Given the description of an element on the screen output the (x, y) to click on. 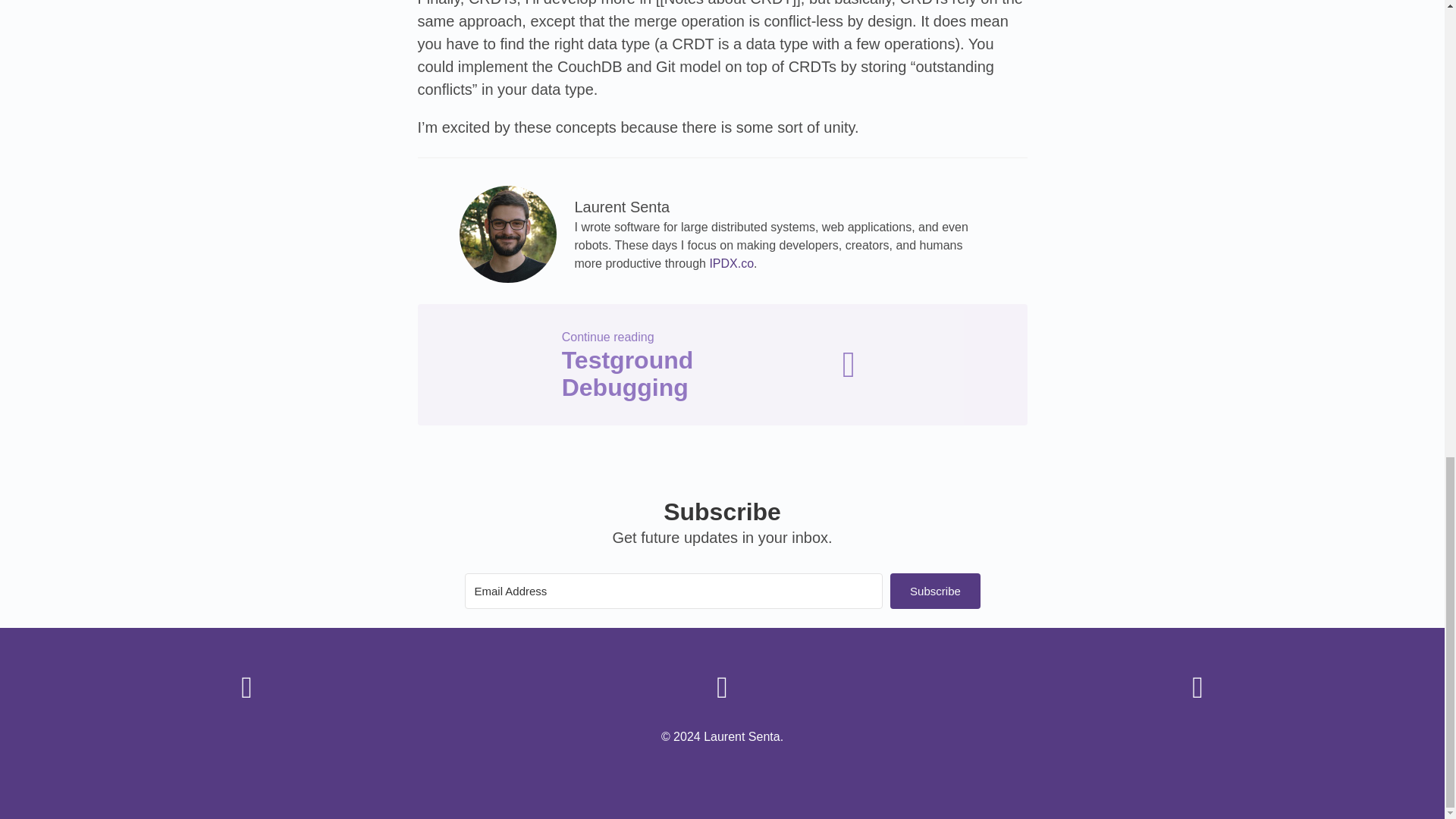
IPDX.co (731, 263)
Subscribe (721, 364)
